Given the description of an element on the screen output the (x, y) to click on. 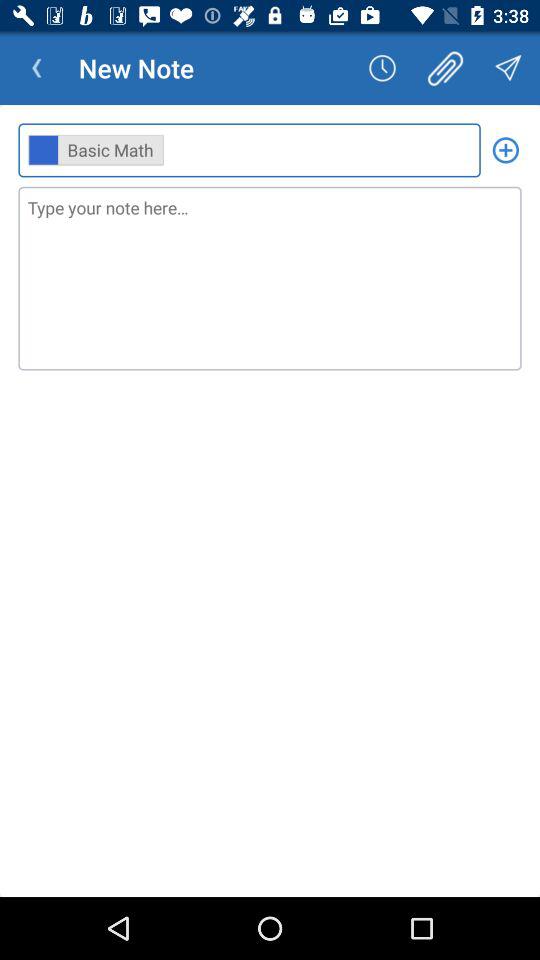
choose icon to the left of new note icon (36, 68)
